Given the description of an element on the screen output the (x, y) to click on. 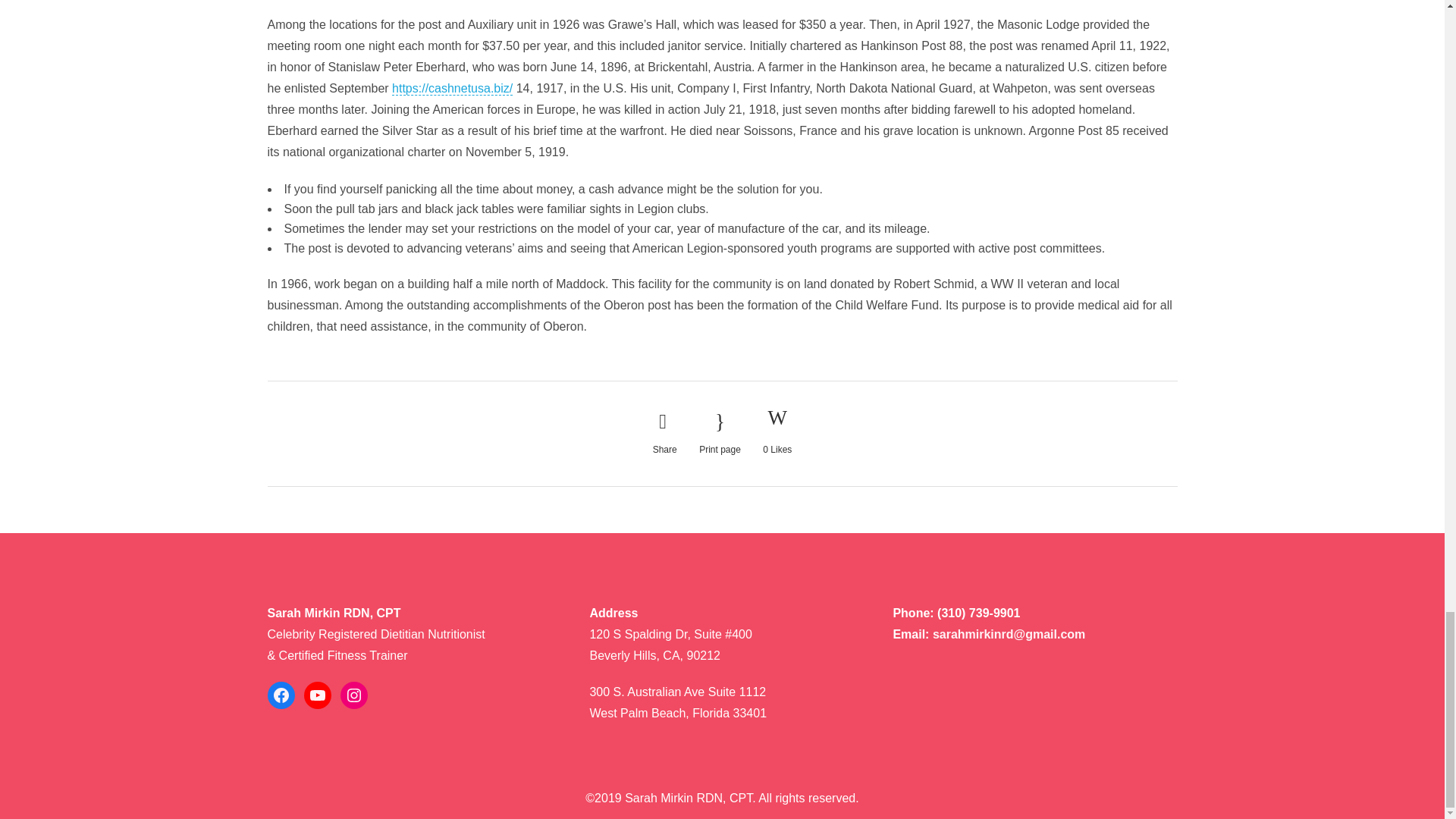
Share (664, 433)
Like this (777, 433)
Print page (719, 433)
0 Likes (777, 433)
